Given the description of an element on the screen output the (x, y) to click on. 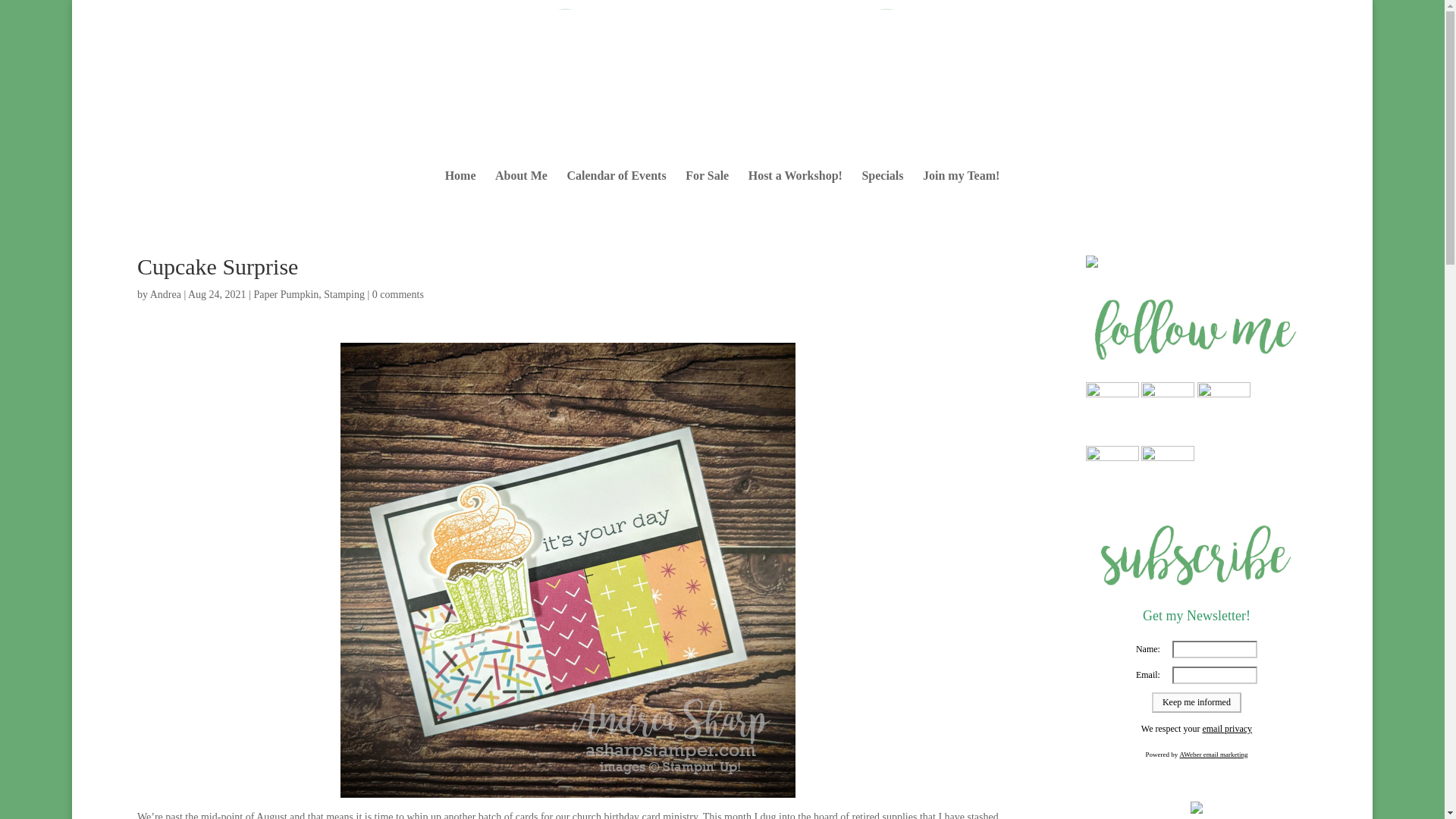
About Me (521, 190)
Keep me informed (1196, 702)
Andrea (164, 294)
Specials (881, 190)
0 comments (397, 294)
Paper Pumpkin (285, 294)
Stamping (344, 294)
Calendar of Events (615, 190)
For Sale (707, 190)
Host a Workshop! (795, 190)
Join my Team! (960, 190)
Posts by Andrea (164, 294)
